Given the description of an element on the screen output the (x, y) to click on. 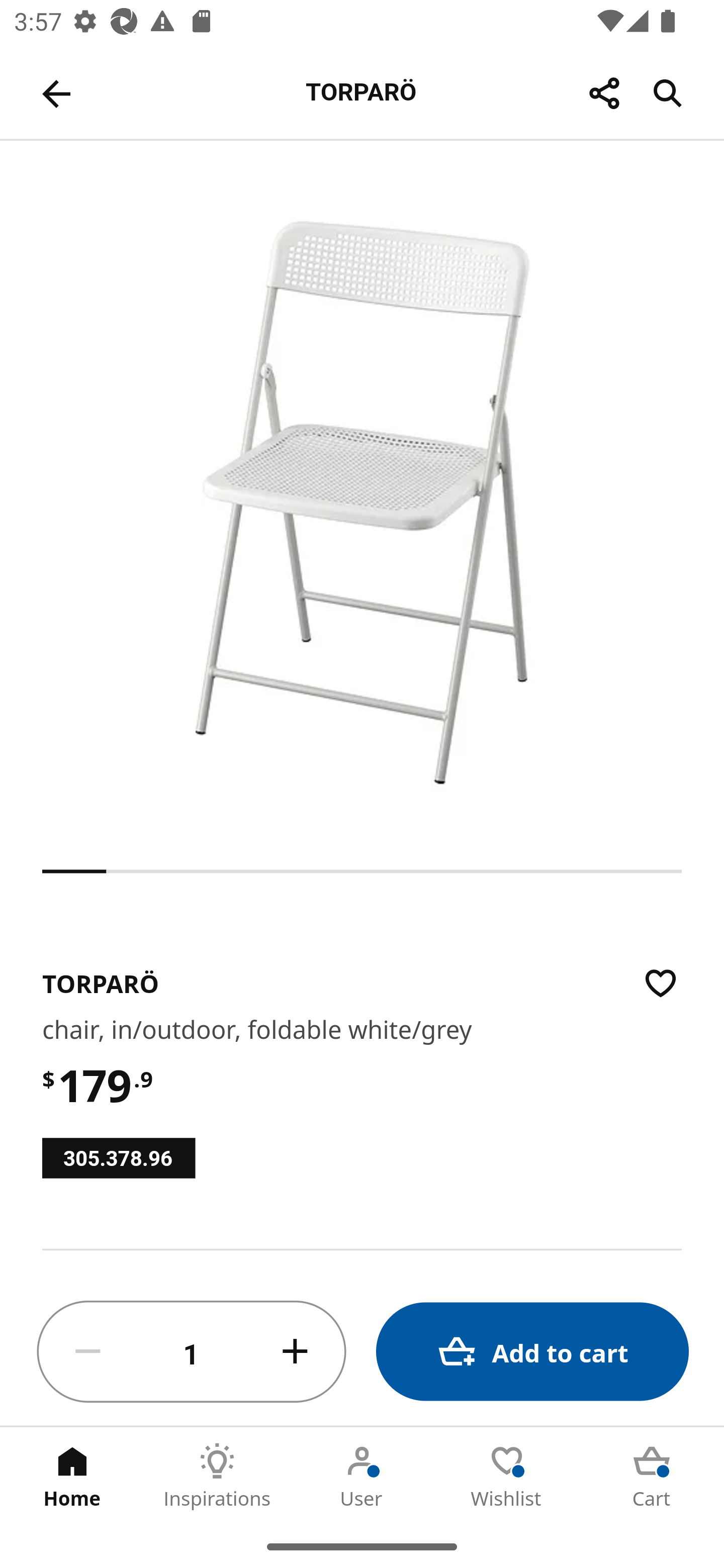
65 In stock at Warehouse (361, 1263)
Add to cart (531, 1352)
1 (191, 1352)
Home
Tab 1 of 5 (72, 1476)
Inspirations
Tab 2 of 5 (216, 1476)
User
Tab 3 of 5 (361, 1476)
Wishlist
Tab 4 of 5 (506, 1476)
Cart
Tab 5 of 5 (651, 1476)
